Given the description of an element on the screen output the (x, y) to click on. 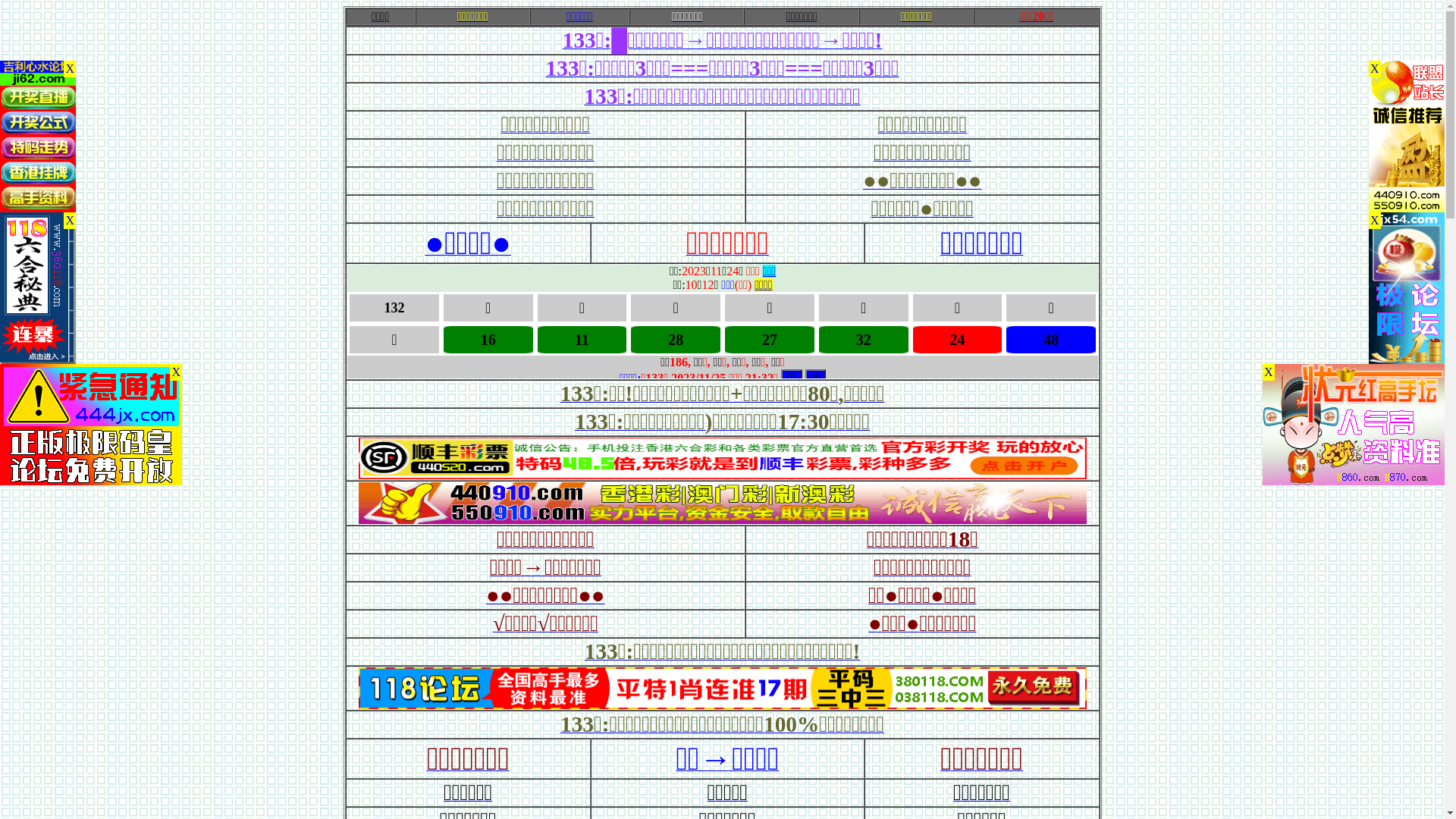
X Element type: text (69, 220)
00.00 Element type: hover (721, 704)
X Element type: text (69, 68)
X Element type: text (1374, 220)
X Element type: text (175, 372)
X Element type: text (1374, 68)
X Element type: text (1268, 372)
